Given the description of an element on the screen output the (x, y) to click on. 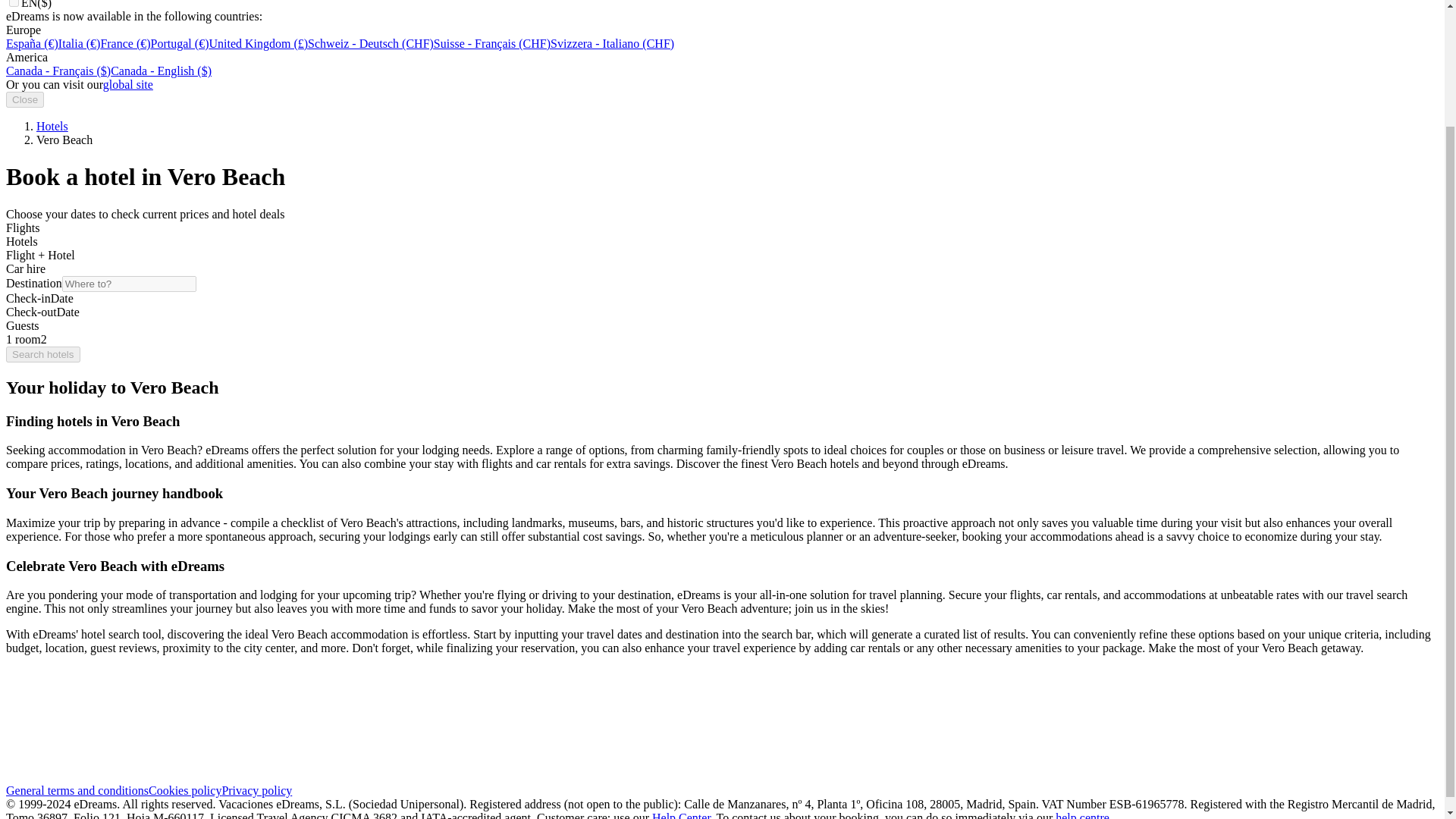
Close (24, 99)
Search hotels (42, 354)
General terms and conditions (76, 789)
global site (127, 83)
Hotels (52, 125)
Cookies policy (184, 789)
Privacy policy (256, 789)
on (13, 3)
